Given the description of an element on the screen output the (x, y) to click on. 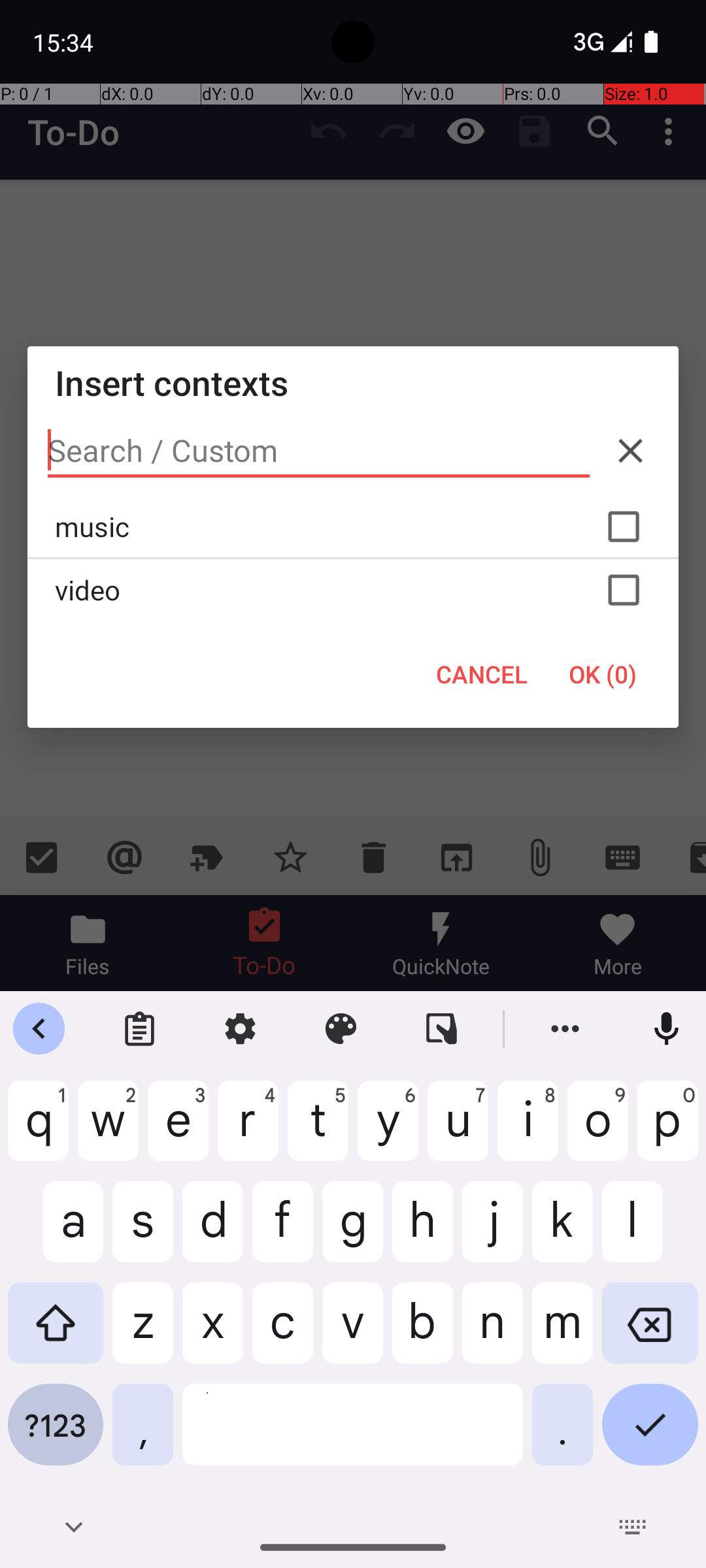
Insert contexts Element type: android.widget.TextView (352, 382)
Search / Custom Element type: android.widget.EditText (318, 450)
music Element type: android.widget.CheckedTextView (352, 526)
video Element type: android.widget.CheckedTextView (352, 589)
OK (0) Element type: android.widget.Button (602, 673)
